Given the description of an element on the screen output the (x, y) to click on. 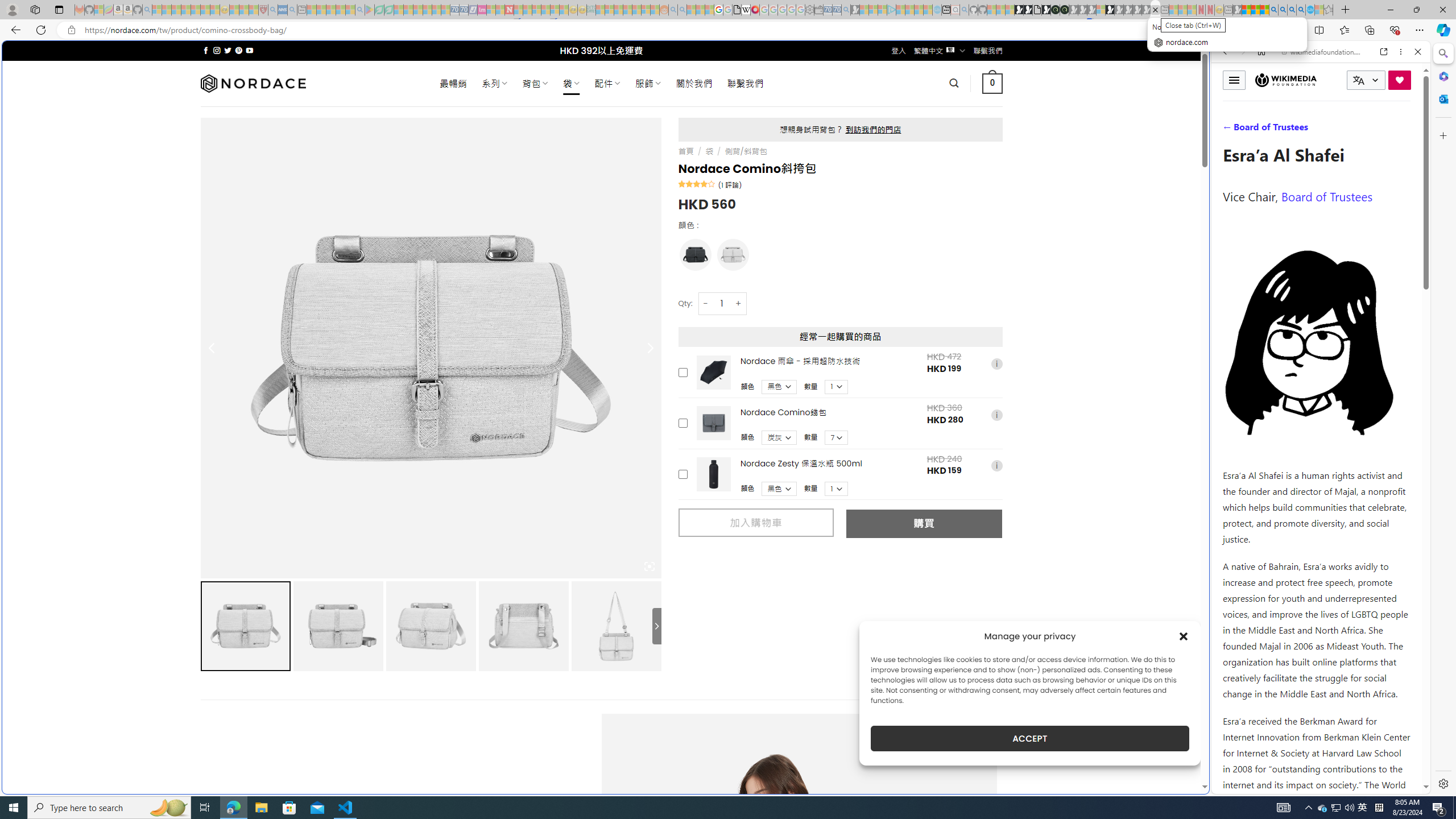
Wikimedia Foundation (1285, 79)
Frequently visited (965, 151)
google_privacy_policy_zh-CN.pdf (1118, 683)
NCL Adult Asthma Inhaler Choice Guideline - Sleeping (282, 9)
SEARCH TOOLS (1350, 130)
